Given the description of an element on the screen output the (x, y) to click on. 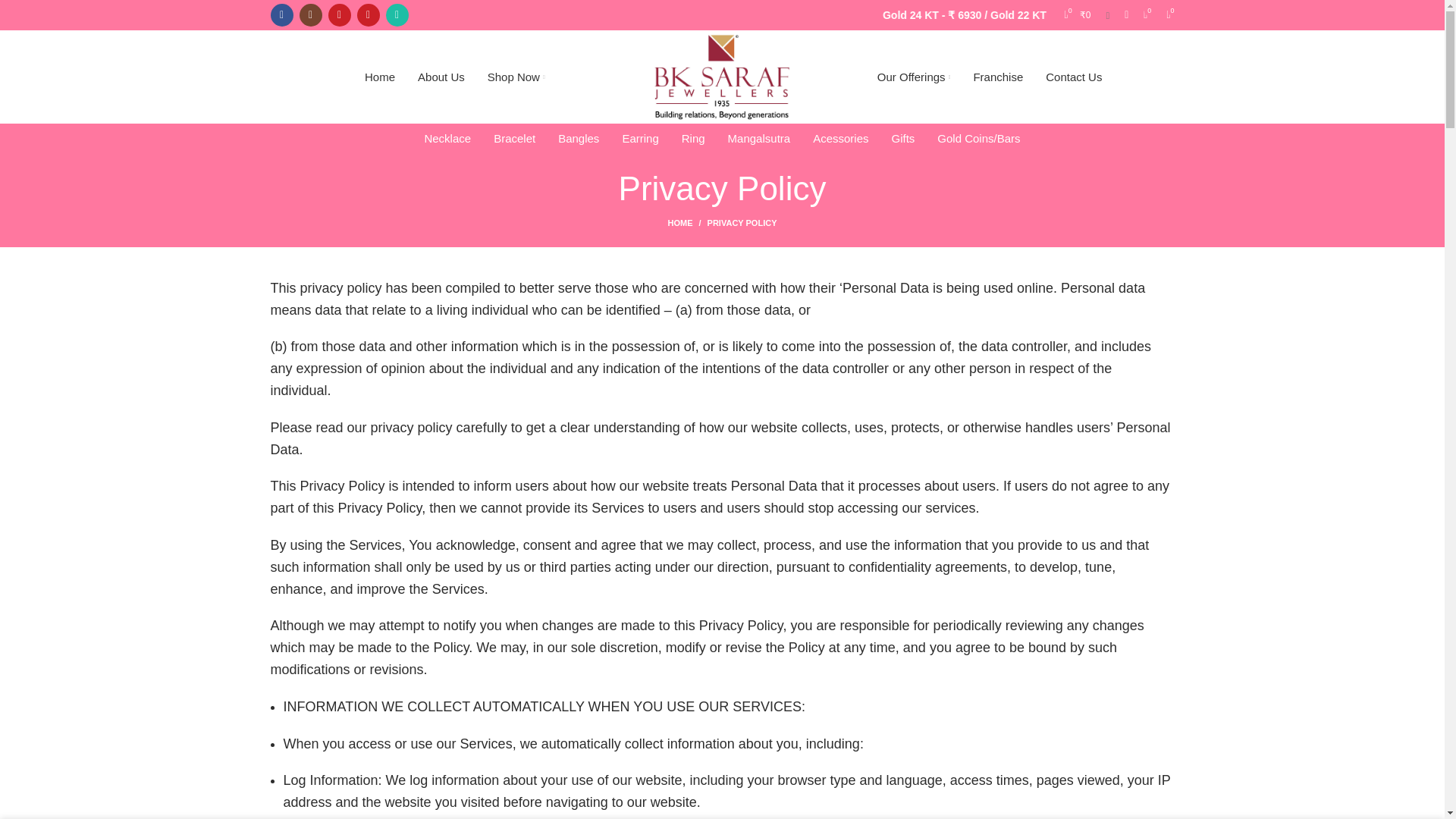
Contact Us (1073, 77)
My account (1125, 15)
Acessories (840, 138)
Bracelet (514, 138)
Gifts (902, 138)
Mangalsutra (759, 138)
Earring (639, 138)
About Us (441, 77)
Ring (692, 138)
0 (1167, 15)
Shop Now (516, 77)
Home (379, 77)
Search (1106, 15)
Franchise (996, 77)
